Given the description of an element on the screen output the (x, y) to click on. 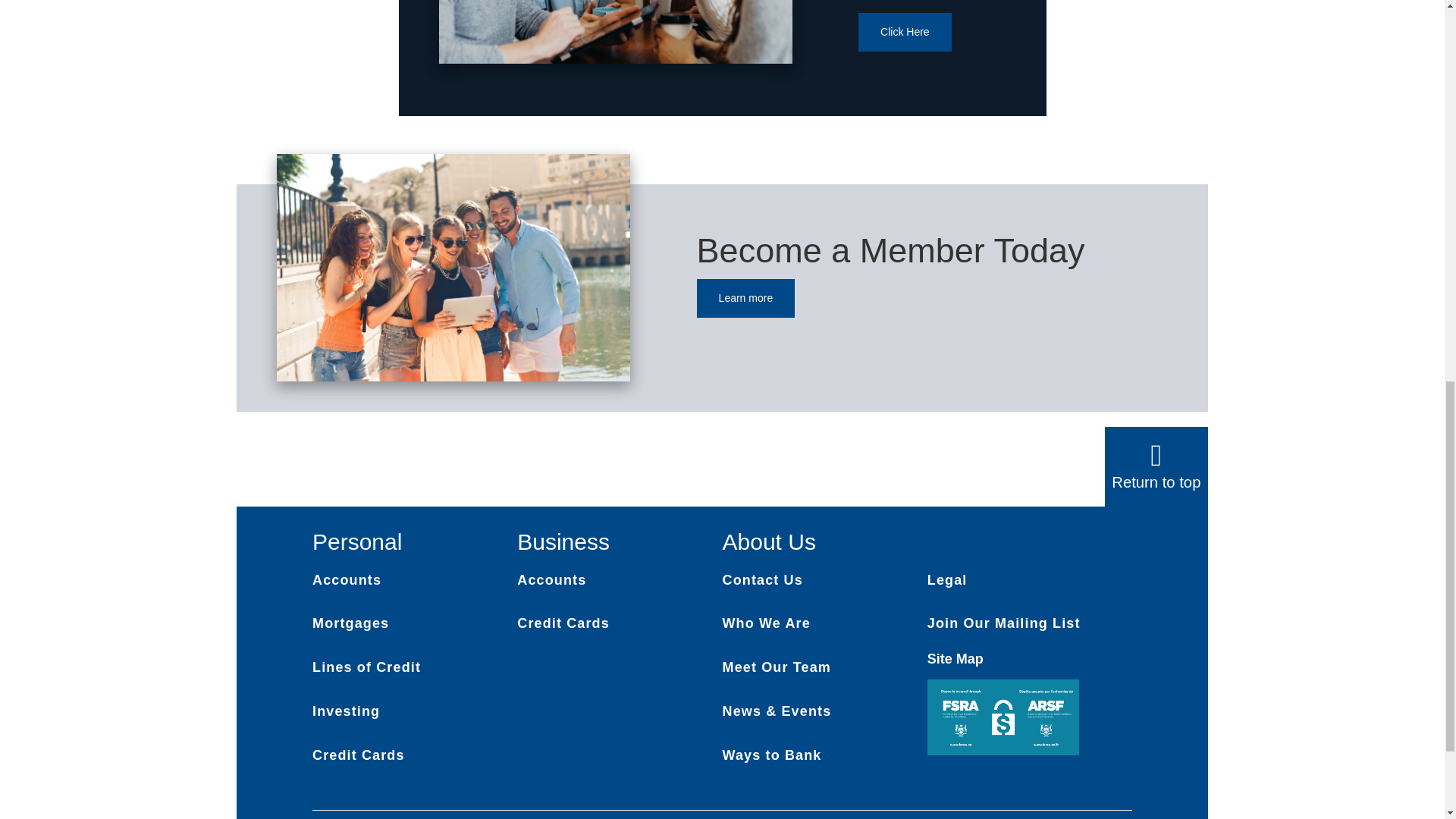
Accounts (347, 580)
Return to top (1156, 466)
Accounts (551, 580)
Contact Us (762, 580)
Becoming a Member (745, 298)
Return to top (1155, 482)
Credit Cards (358, 754)
Loan Department (905, 32)
Investing (346, 711)
Lines of Credit (366, 667)
